Given the description of an element on the screen output the (x, y) to click on. 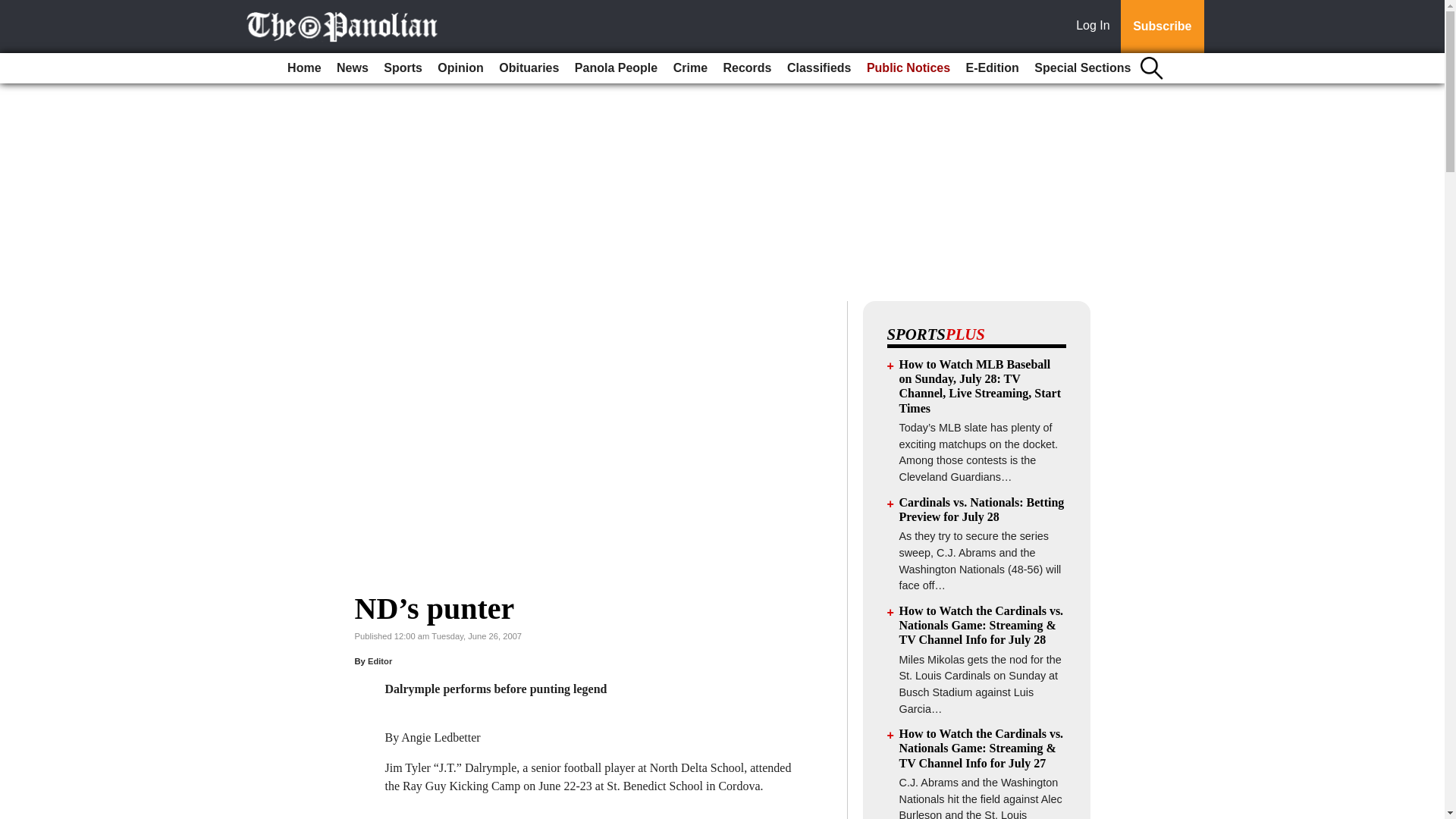
Crime (689, 68)
Opinion (459, 68)
Go (13, 9)
Records (746, 68)
Subscribe (1162, 26)
Panola People (616, 68)
Log In (1095, 26)
Special Sections (1082, 68)
Sports (402, 68)
E-Edition (992, 68)
Editor (379, 660)
News (352, 68)
Classifieds (818, 68)
Obituaries (528, 68)
